Given the description of an element on the screen output the (x, y) to click on. 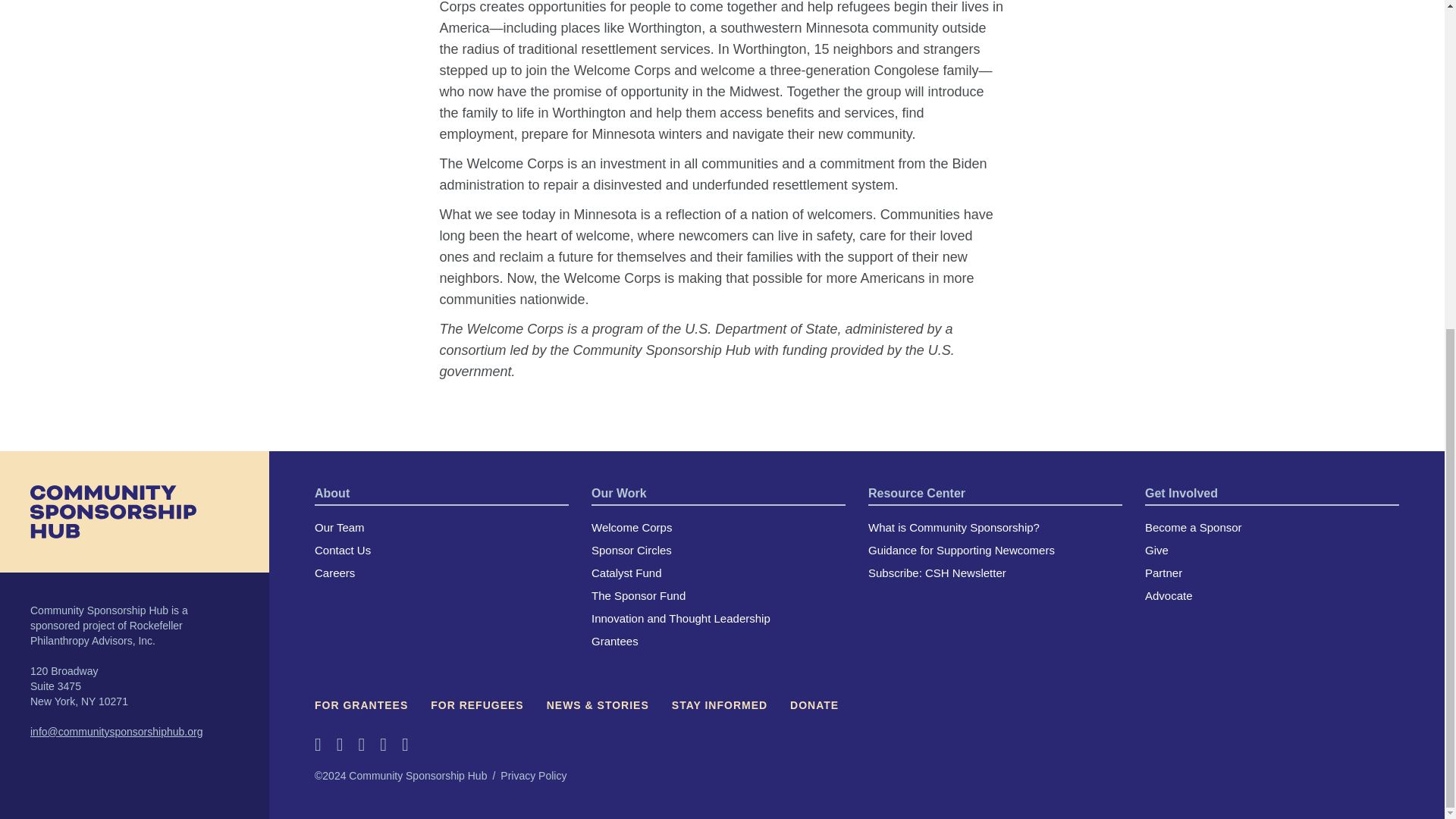
Guidance for Supporting Newcomers (960, 549)
Careers (334, 572)
FOR GRANTEES (360, 705)
The Sponsor Fund (638, 594)
Get Involved (1180, 492)
Grantees (615, 640)
Innovation and Thought Leadership (680, 617)
Resource Center (916, 492)
Our Work (618, 492)
Advocate (1168, 594)
FOR REFUGEES (476, 705)
Catalyst Fund (626, 572)
Our Team (339, 526)
Contact Us (342, 549)
Sponsor Circles (631, 549)
